Given the description of an element on the screen output the (x, y) to click on. 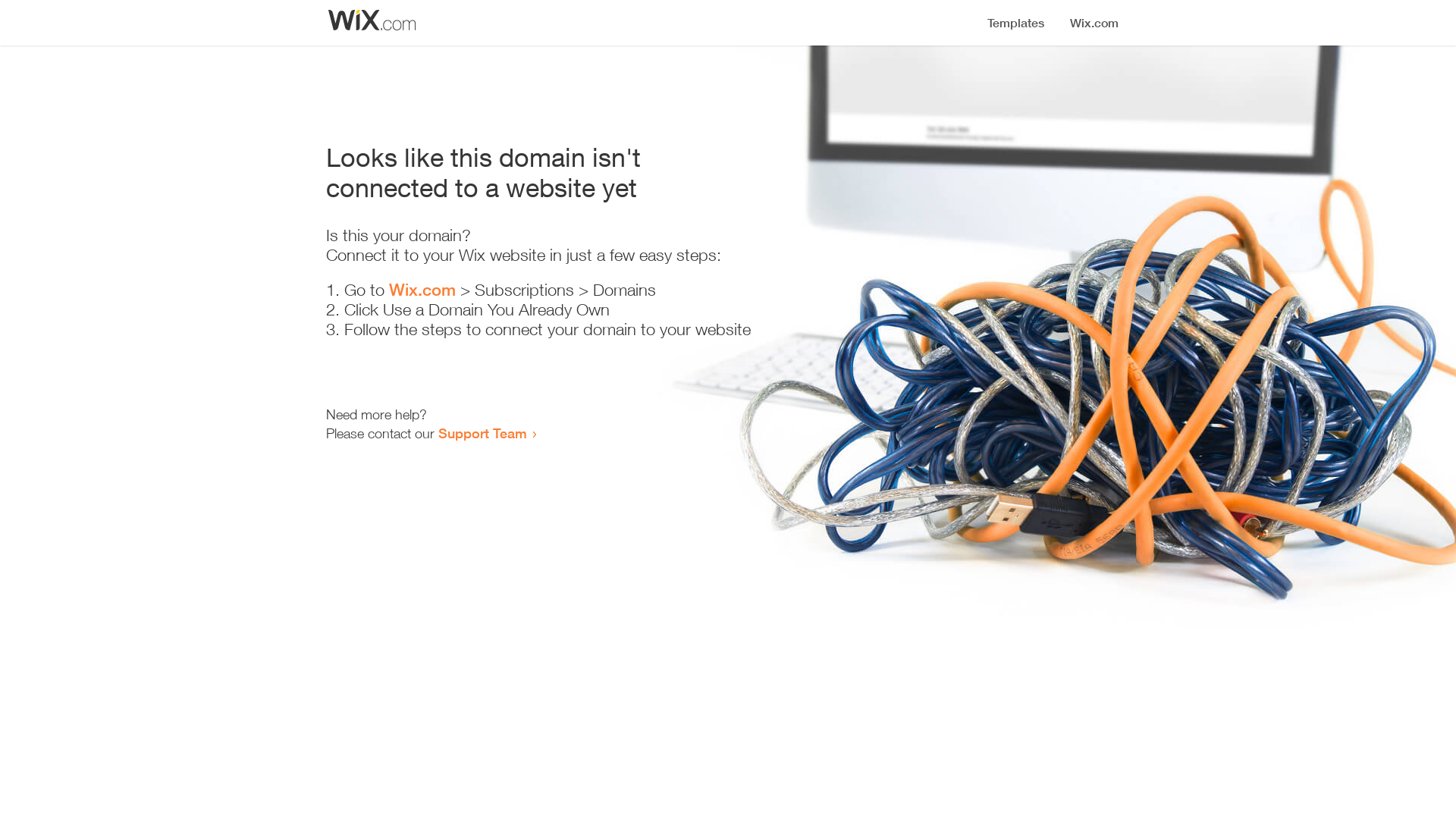
Support Team Element type: text (482, 432)
Wix.com Element type: text (422, 289)
